Given the description of an element on the screen output the (x, y) to click on. 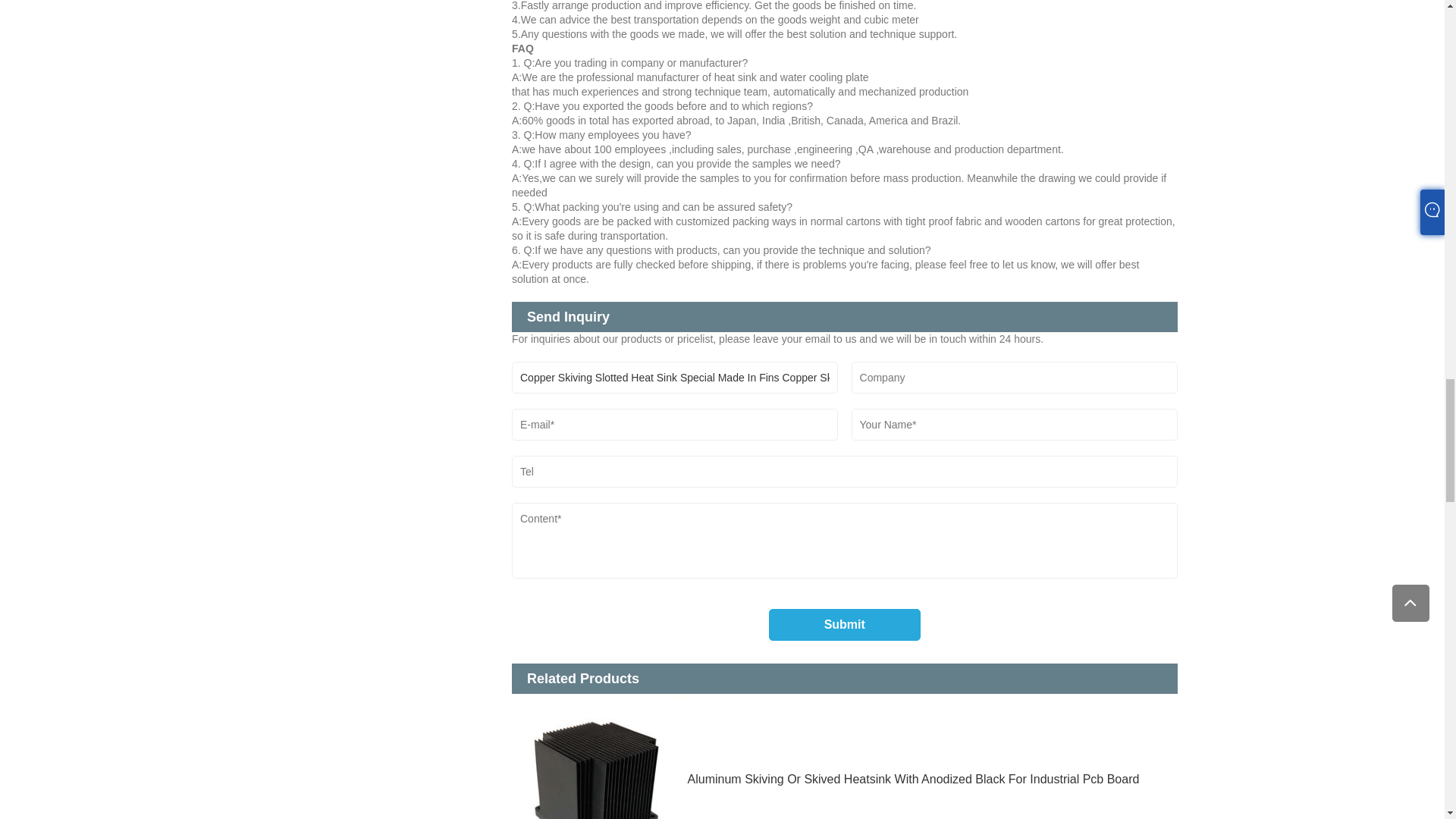
Submit (844, 624)
